Given the description of an element on the screen output the (x, y) to click on. 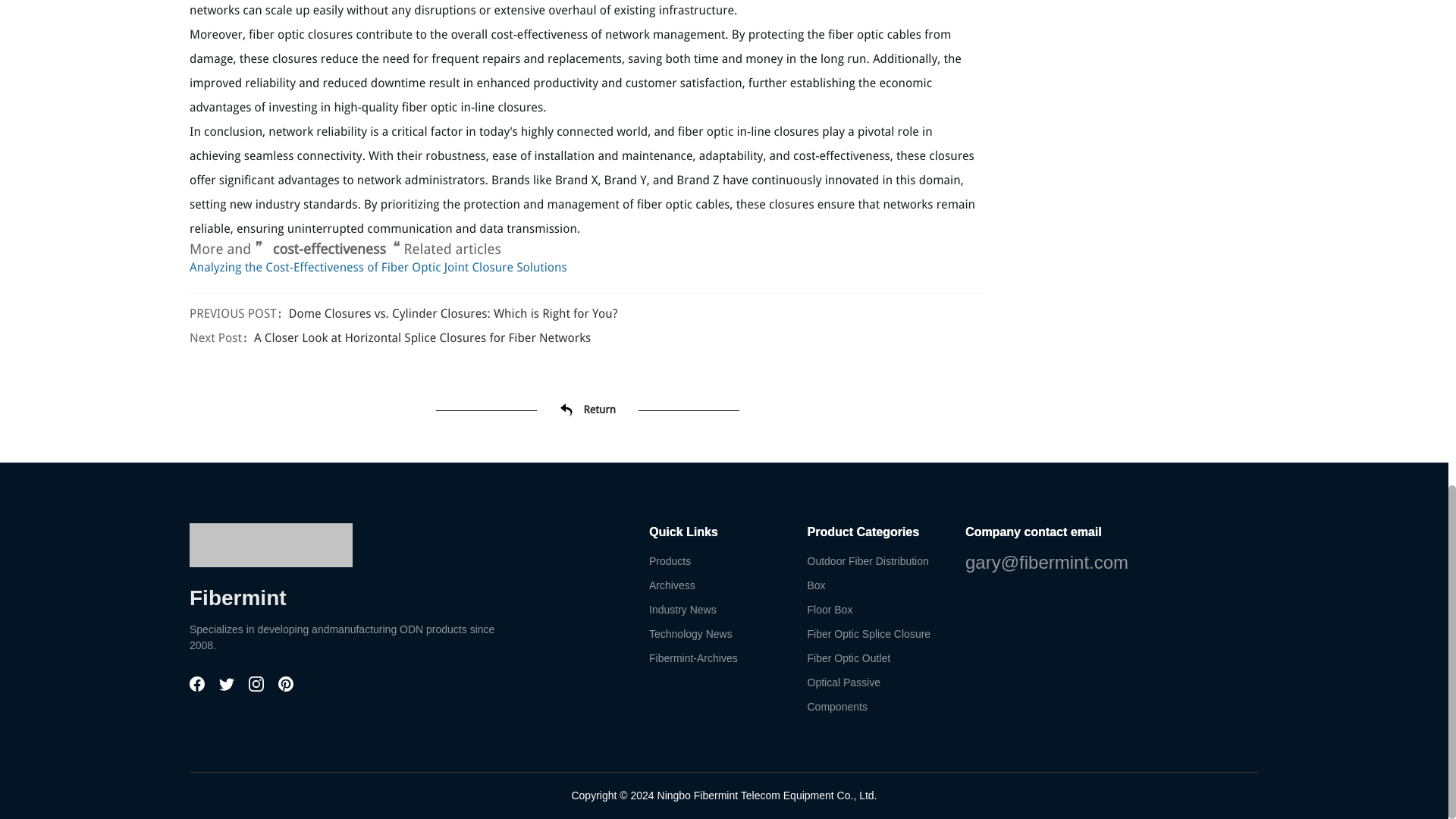
Twitter (228, 687)
Facebook (198, 687)
Instagram (257, 687)
Pinterest (286, 687)
